Given the description of an element on the screen output the (x, y) to click on. 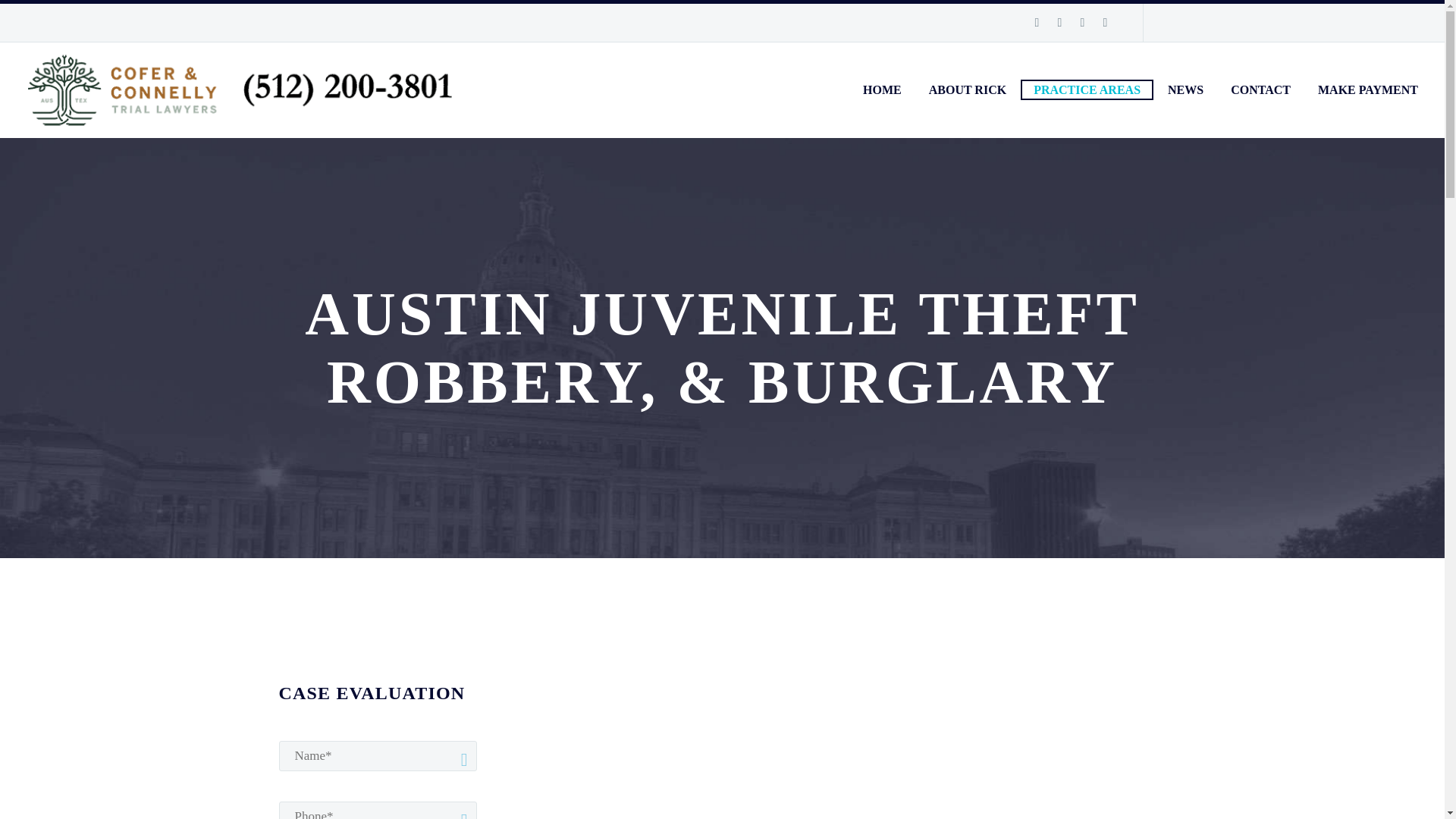
Facebook (1036, 22)
Instagram (1104, 22)
CONTACT (1260, 89)
HOME (881, 89)
ABOUT RICK (967, 89)
PRACTICE AREAS (1086, 89)
LinkedIn (1059, 22)
Twitter (1081, 22)
NEWS (1185, 89)
MAKE PAYMENT (1367, 89)
